Given the description of an element on the screen output the (x, y) to click on. 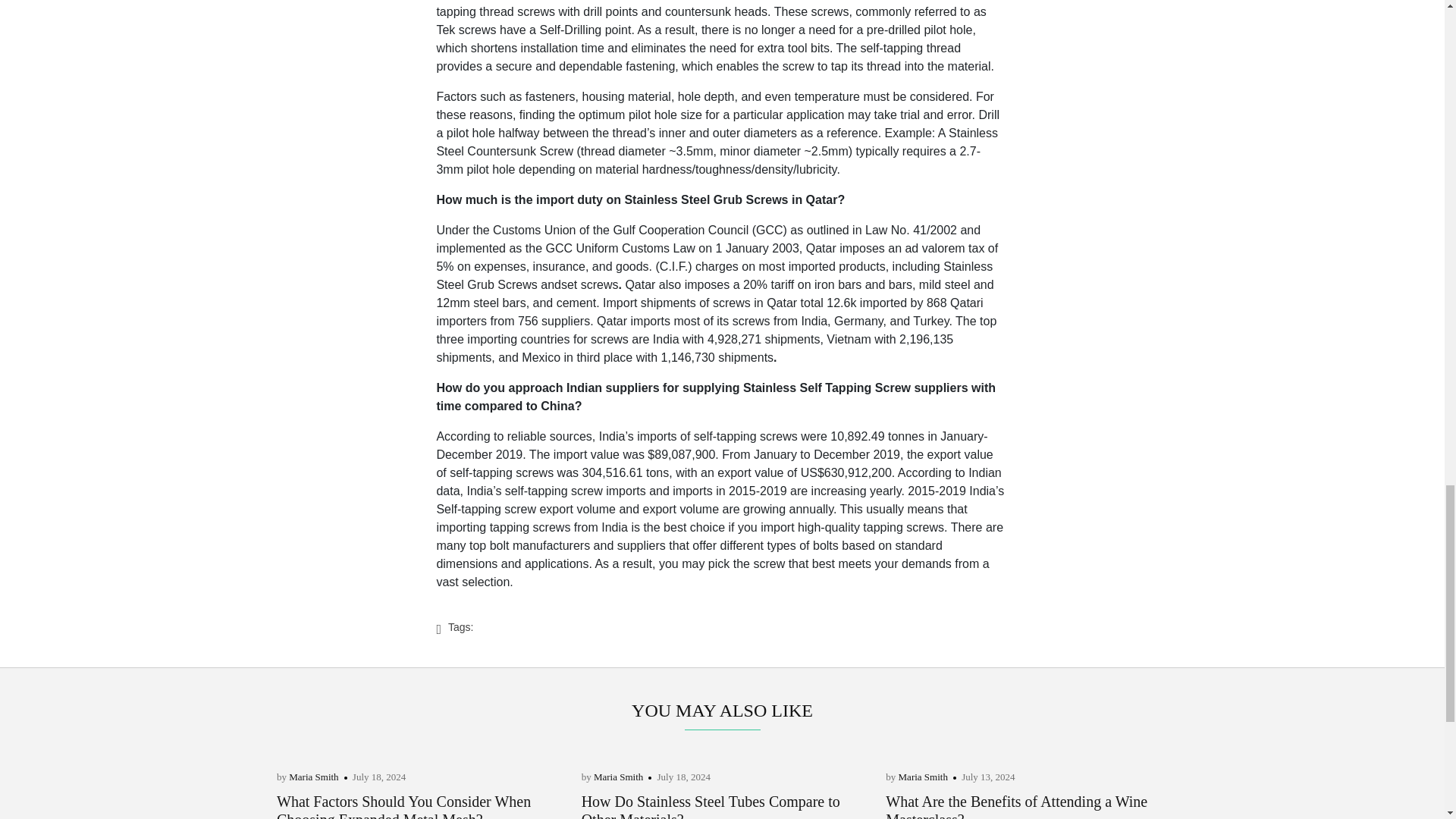
How Do Stainless Steel Tubes Compare to Other Materials? (710, 726)
READ MORE (611, 809)
What Are the Benefits of Attending a Wine Masterclass? (1016, 726)
READ MORE (307, 809)
How Do Stainless Steel Tubes Compare to Other Materials? (710, 726)
